Given the description of an element on the screen output the (x, y) to click on. 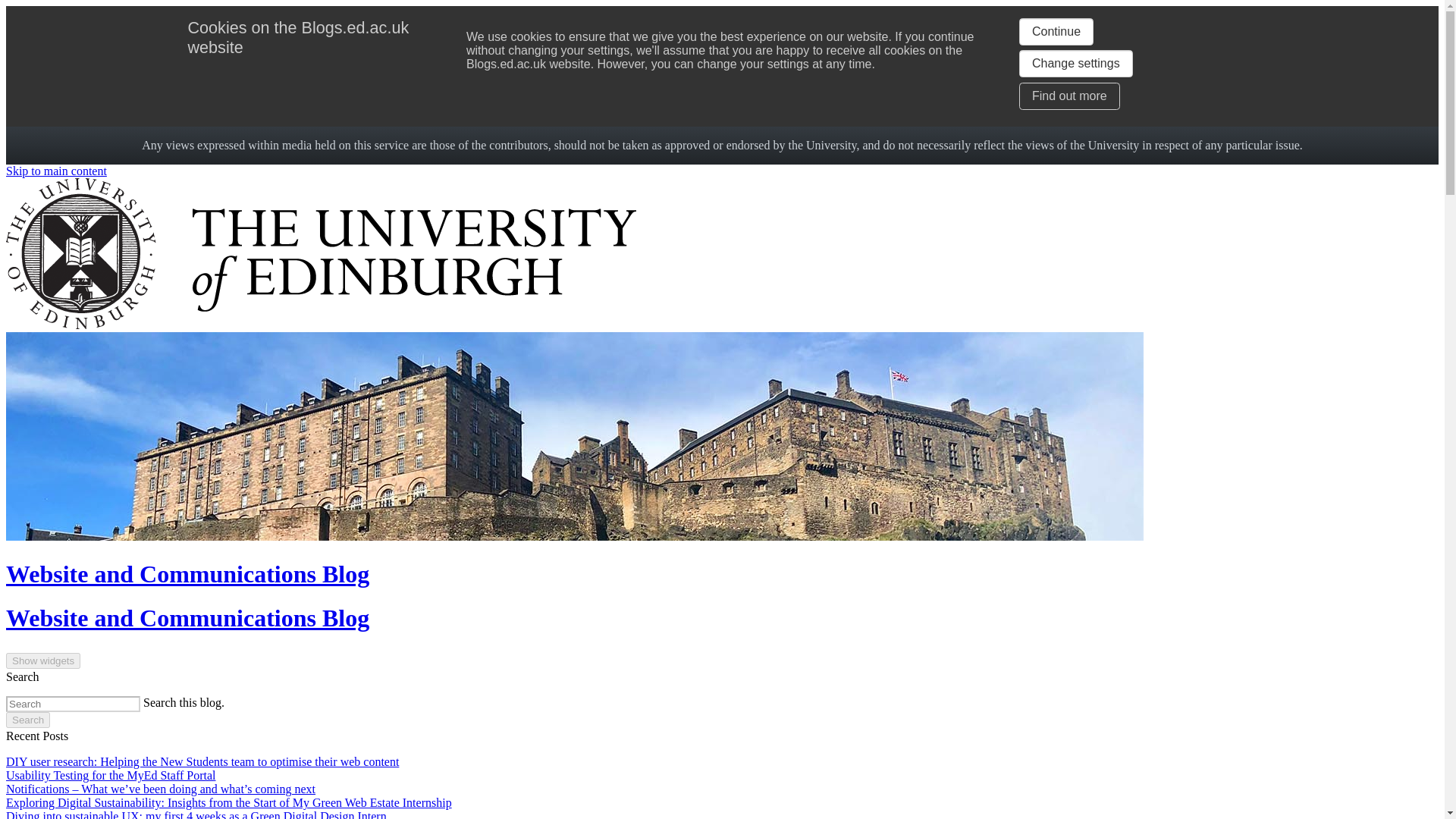
Change settings (1075, 62)
Find out more (1069, 95)
Continue (1056, 31)
Skip to main content (55, 170)
Search (27, 719)
Website and Communications Blog (187, 574)
Show widgets (42, 660)
Usability Testing for the MyEd Staff Portal (110, 775)
Website and Communications Blog (187, 617)
